Given the description of an element on the screen output the (x, y) to click on. 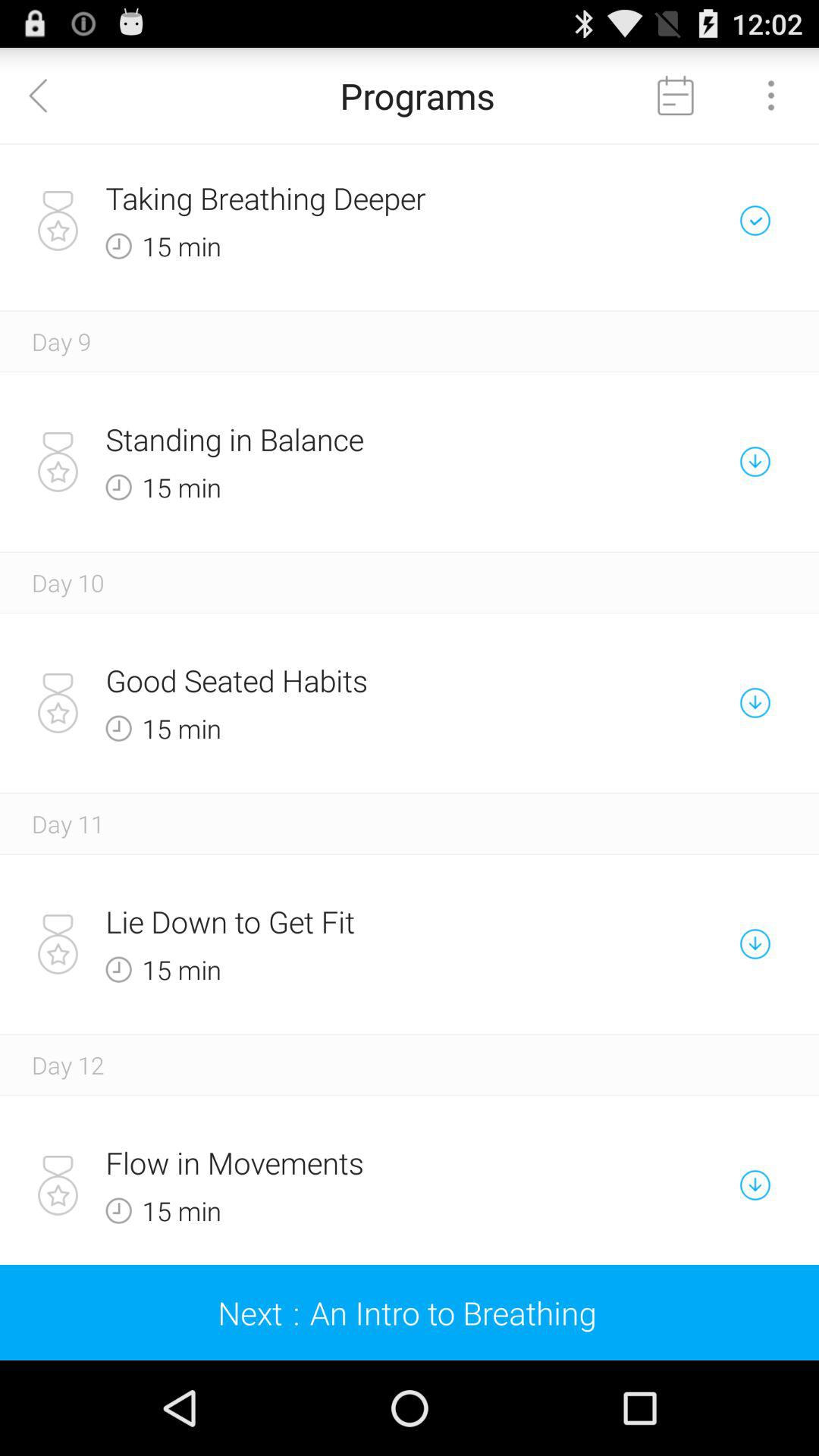
flip to standing in balance (356, 439)
